Given the description of an element on the screen output the (x, y) to click on. 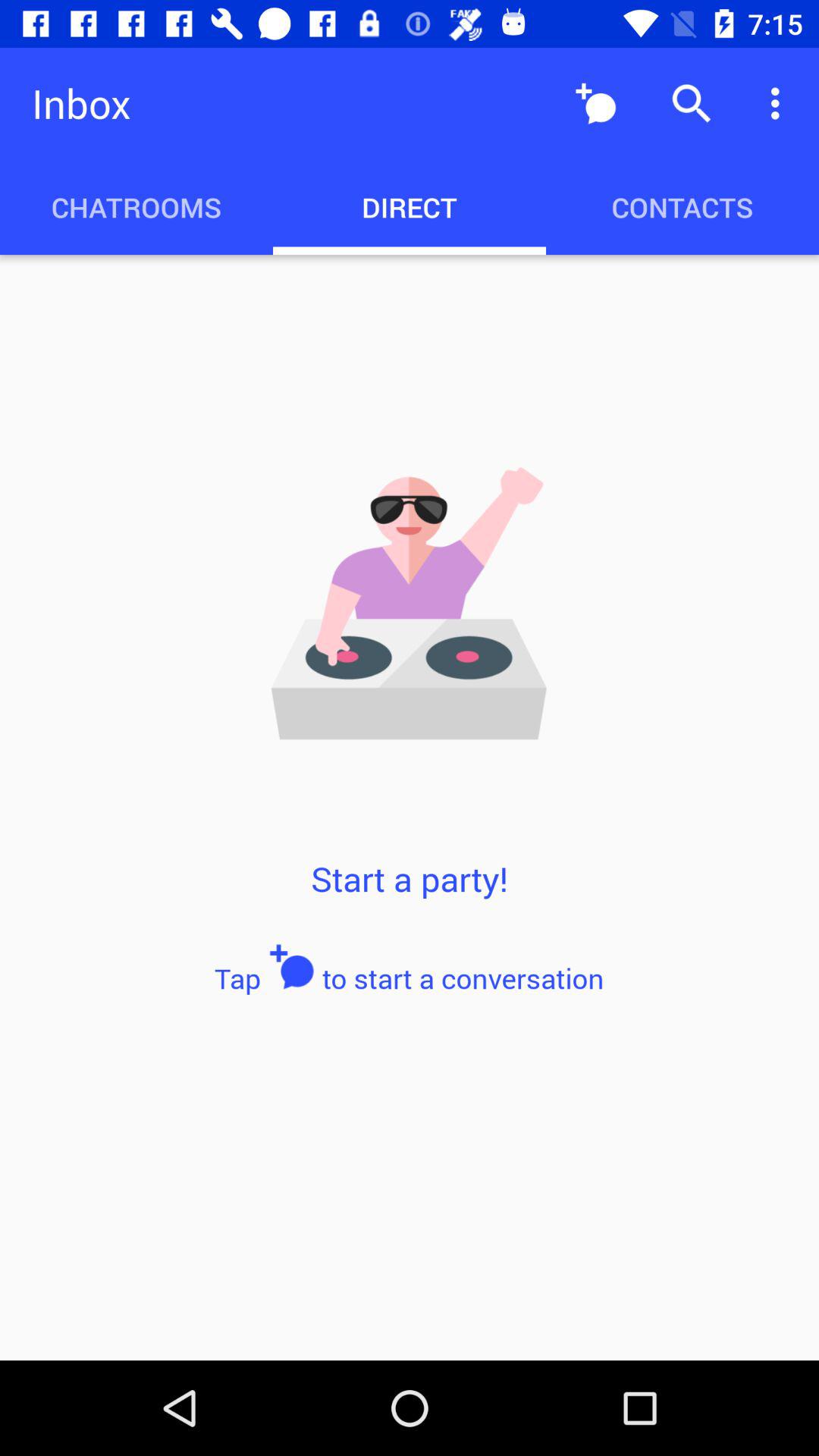
press item above contacts item (595, 103)
